Given the description of an element on the screen output the (x, y) to click on. 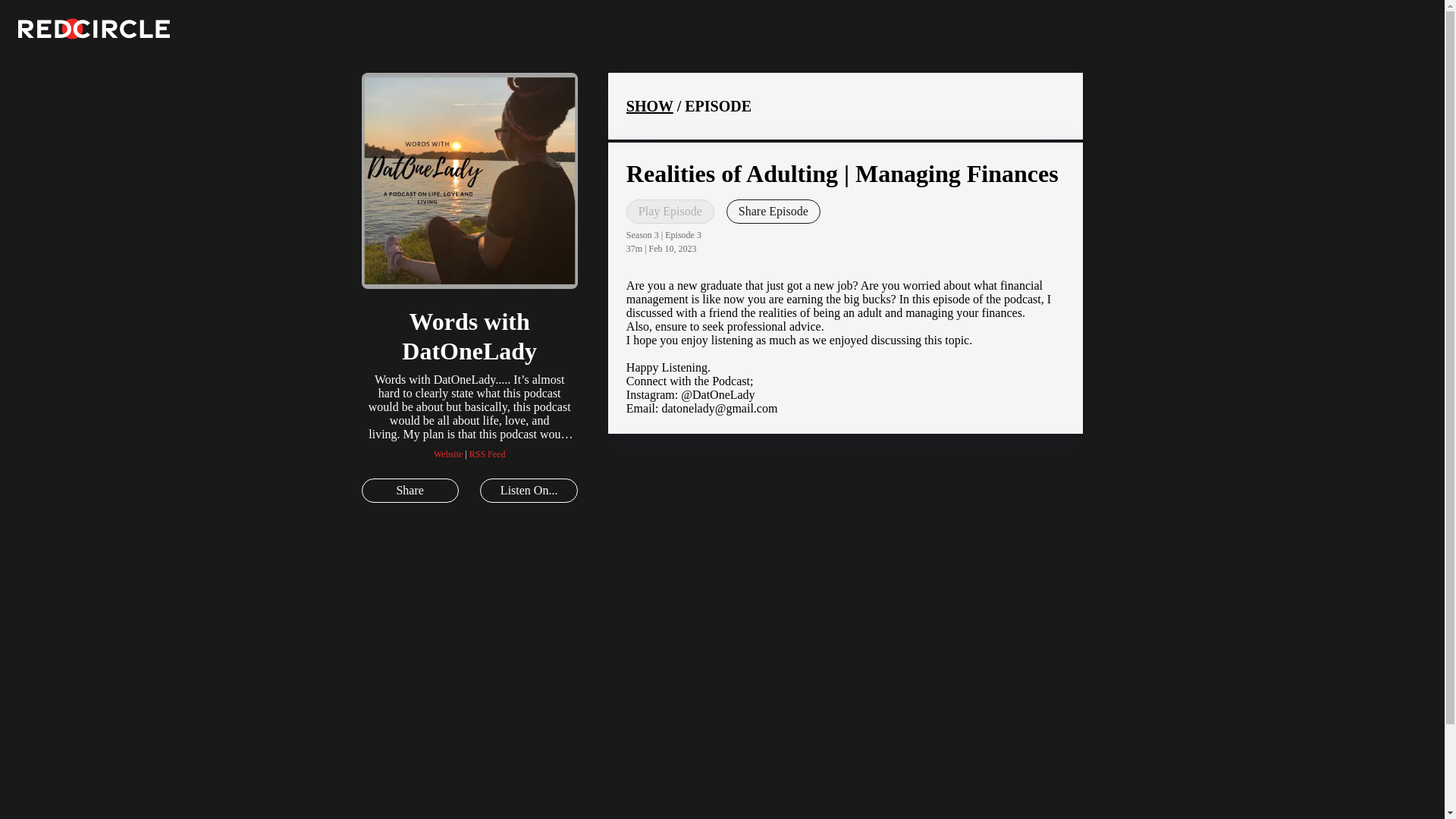
Share Episode (773, 211)
Website (448, 453)
SHOW (649, 105)
Play Episode (670, 211)
Listen On... (528, 490)
Share (409, 490)
RSS Feed (486, 453)
